Given the description of an element on the screen output the (x, y) to click on. 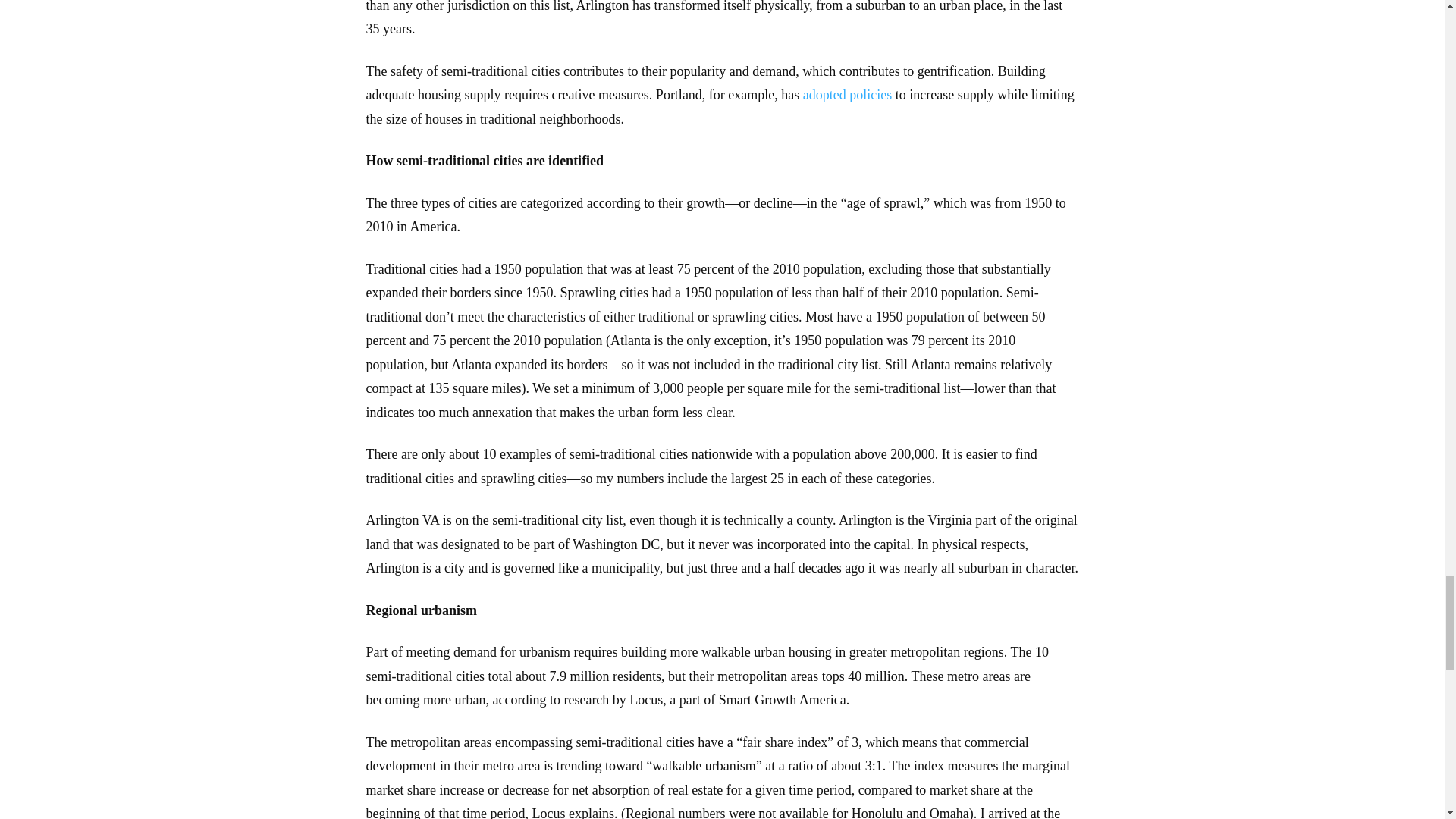
adopted policies (847, 94)
